Given the description of an element on the screen output the (x, y) to click on. 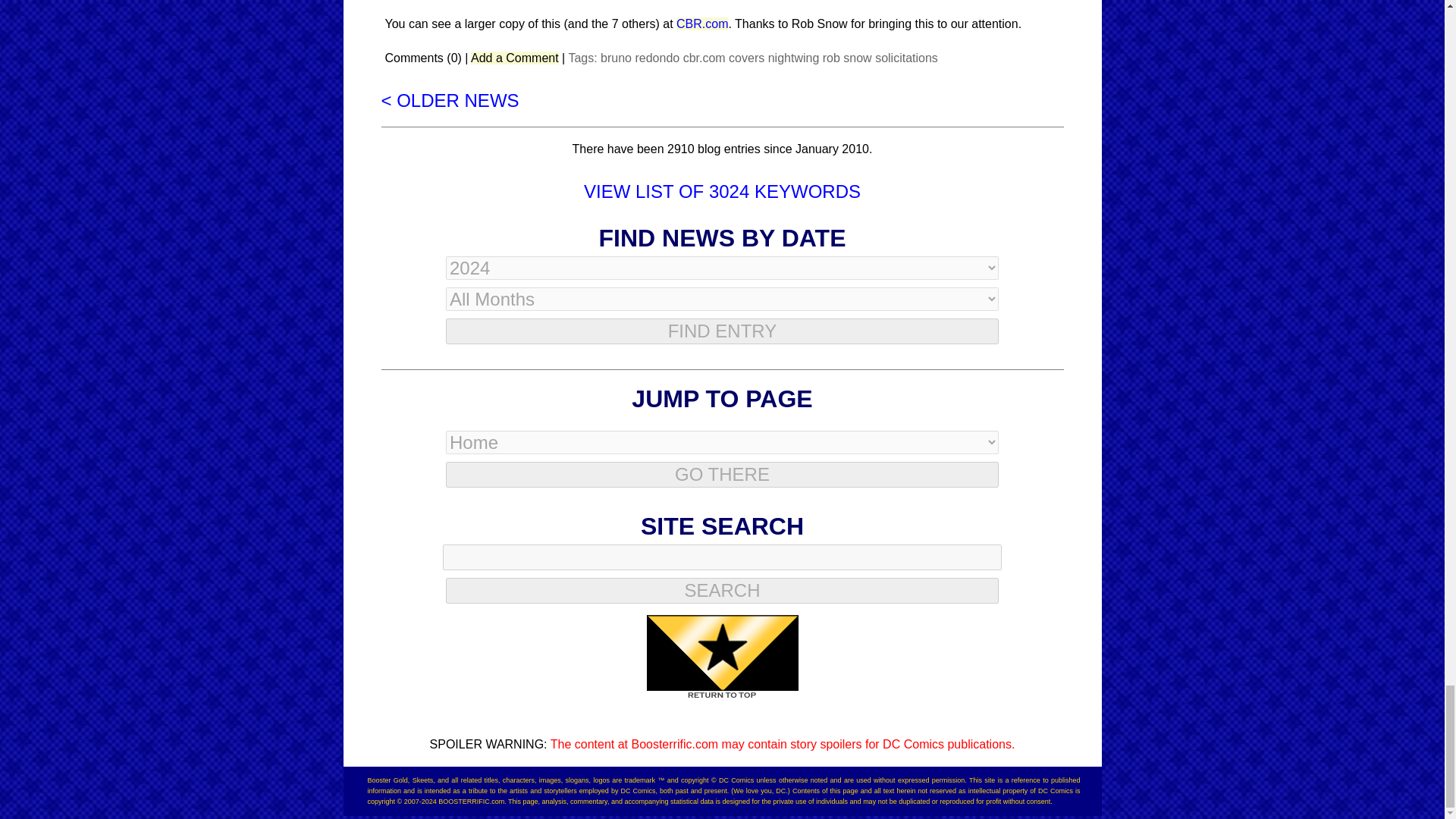
FIND ENTRY (721, 330)
Add a Comment (514, 57)
GO THERE (721, 474)
GO THERE (721, 474)
FIND ENTRY (721, 330)
SEARCH (721, 590)
SEARCH (721, 590)
